Given the description of an element on the screen output the (x, y) to click on. 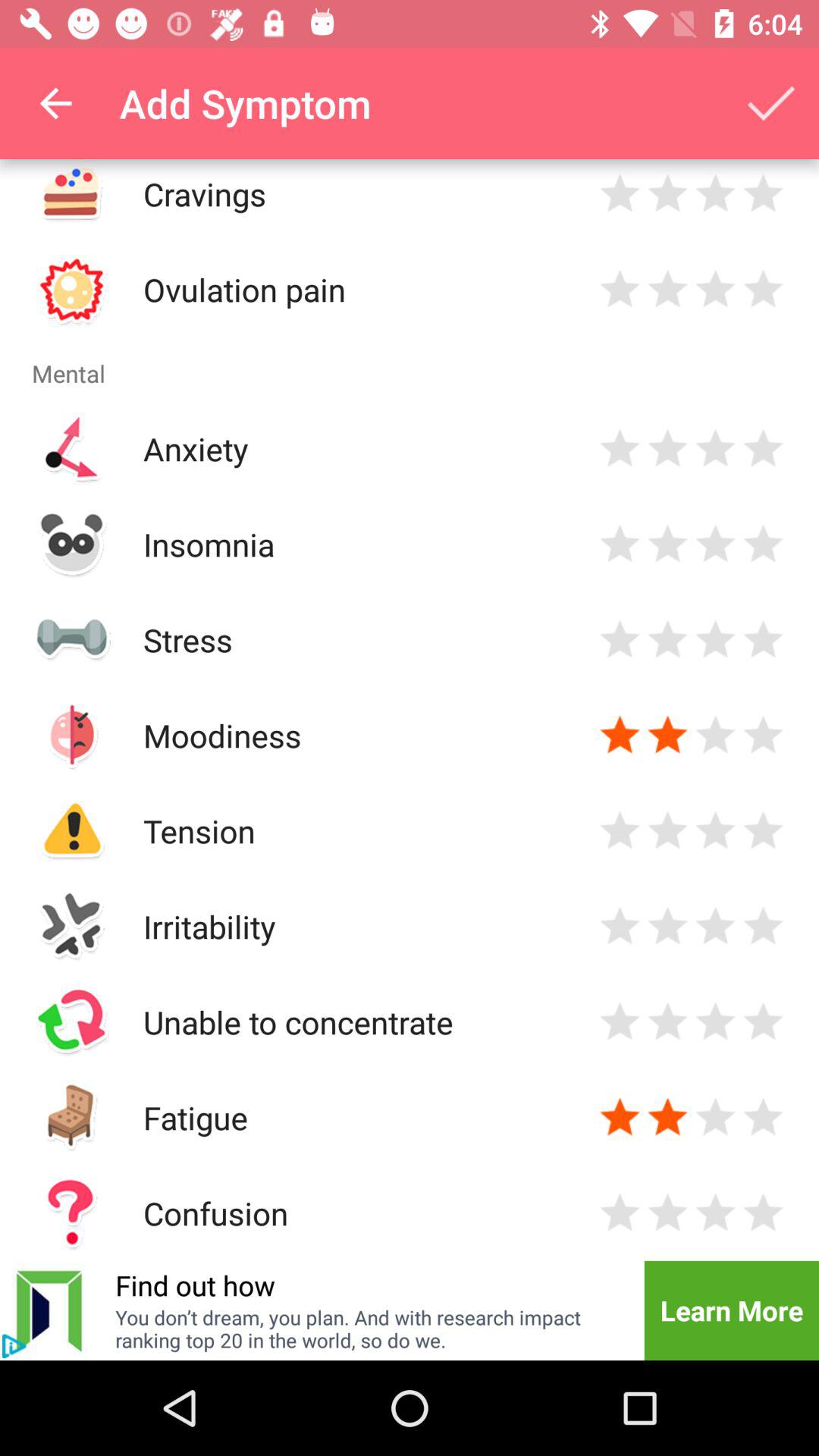
extreme memory loss (763, 1213)
